Given the description of an element on the screen output the (x, y) to click on. 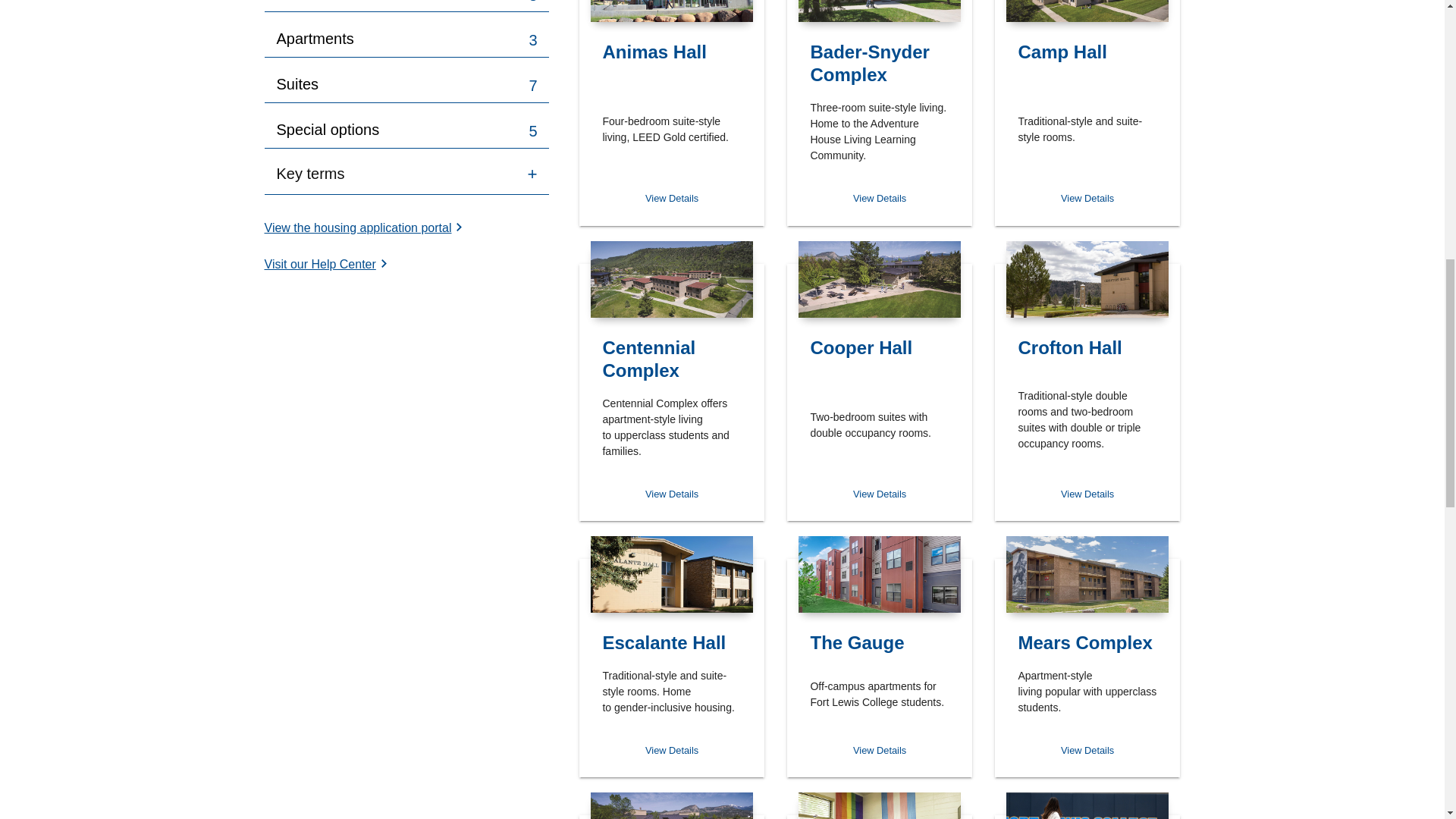
Apartments (314, 38)
Halls (292, 0)
Animas Hall (671, 197)
Special options (327, 129)
Suites (297, 84)
Bader-Snyder Complex (879, 66)
Bader-Snyder Complex (879, 197)
Animas Hall (671, 11)
Bader-Snyder Complex (878, 11)
Animas Hall (671, 54)
